Given the description of an element on the screen output the (x, y) to click on. 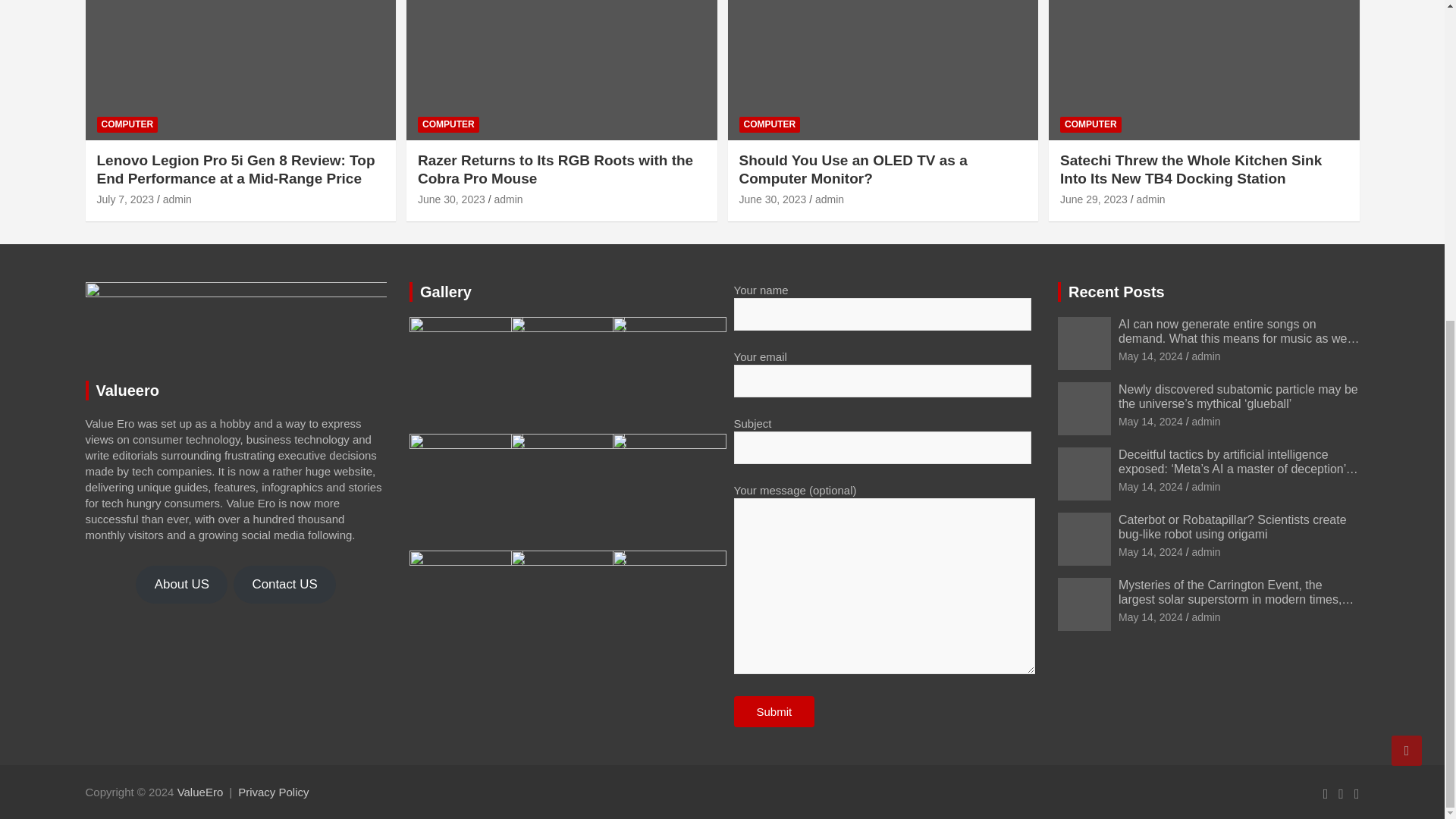
ValueEro (200, 791)
admin (507, 199)
admin (177, 199)
Should You Use an OLED TV as a Computer Monitor? (852, 169)
Razer Returns to Its RGB Roots with the Cobra Pro Mouse (450, 199)
admin (829, 199)
